Given the description of an element on the screen output the (x, y) to click on. 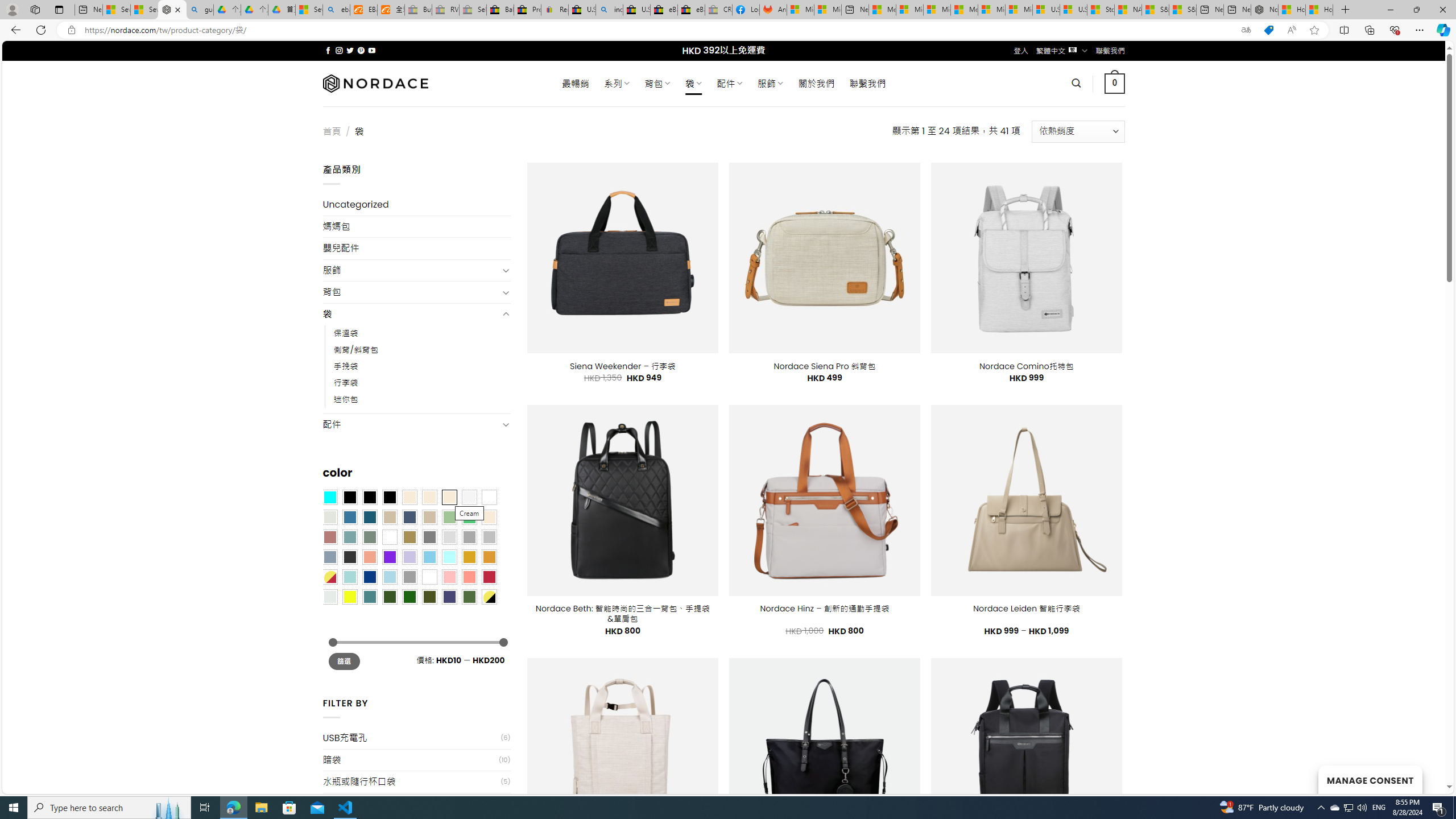
MANAGE CONSENT (1369, 779)
S&P 500, Nasdaq end lower, weighed by Nvidia dip | Watch (1182, 9)
Log into Facebook (746, 9)
Press Room - eBay Inc. (527, 9)
